Given the description of an element on the screen output the (x, y) to click on. 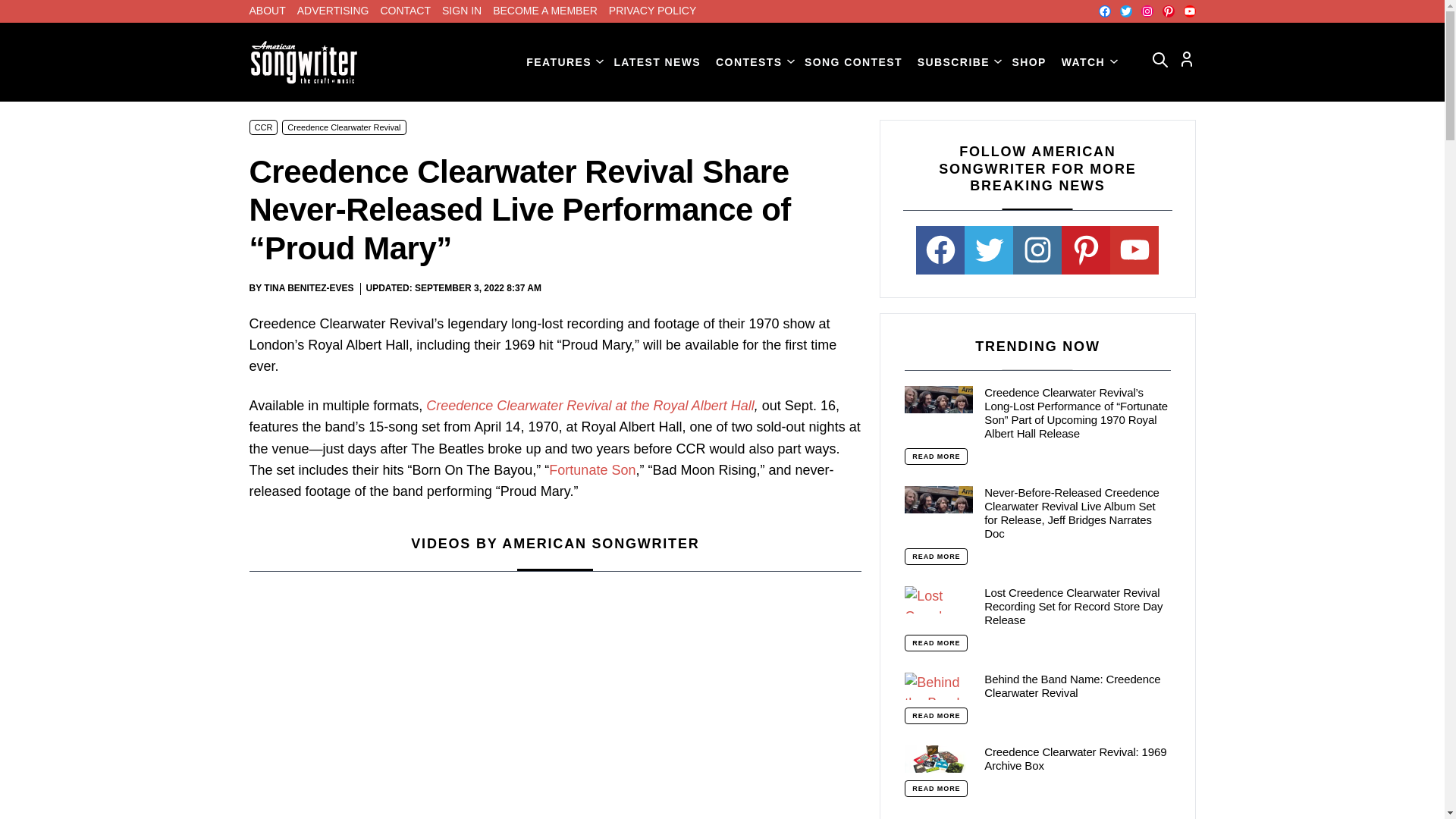
PRIVACY POLICY (651, 10)
Pinterest (1167, 10)
BECOME A MEMBER (544, 10)
YouTube (1188, 10)
ADVERTISING (333, 10)
Instagram (1146, 10)
Facebook (1103, 10)
CONTACT (405, 10)
Posts by Tina Benitez-Eves (308, 287)
ABOUT (266, 10)
SIGN IN (461, 10)
September 3, 2022 8:37 am (477, 288)
Twitter (1125, 10)
